Given the description of an element on the screen output the (x, y) to click on. 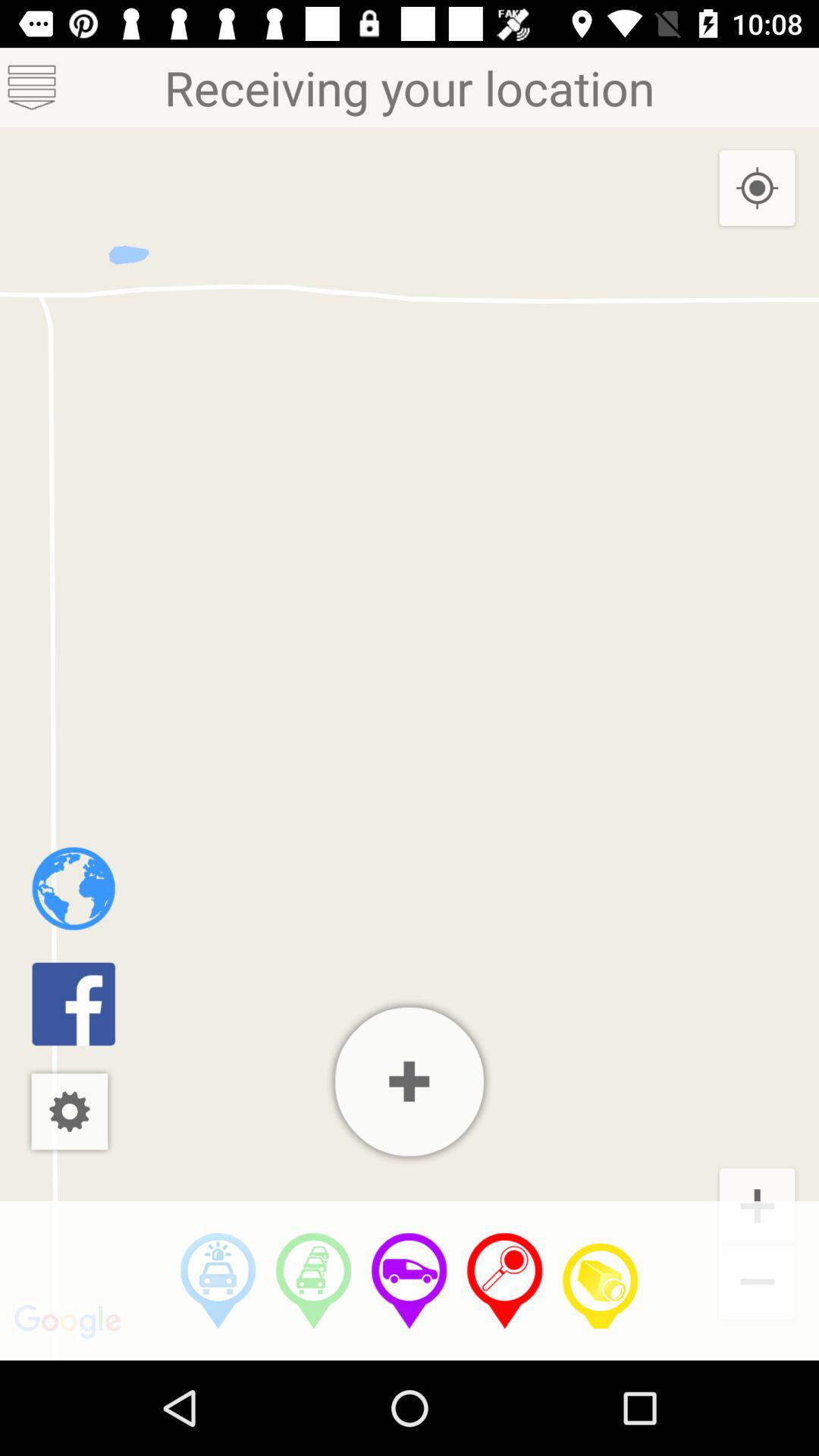
go to home (73, 888)
